Given the description of an element on the screen output the (x, y) to click on. 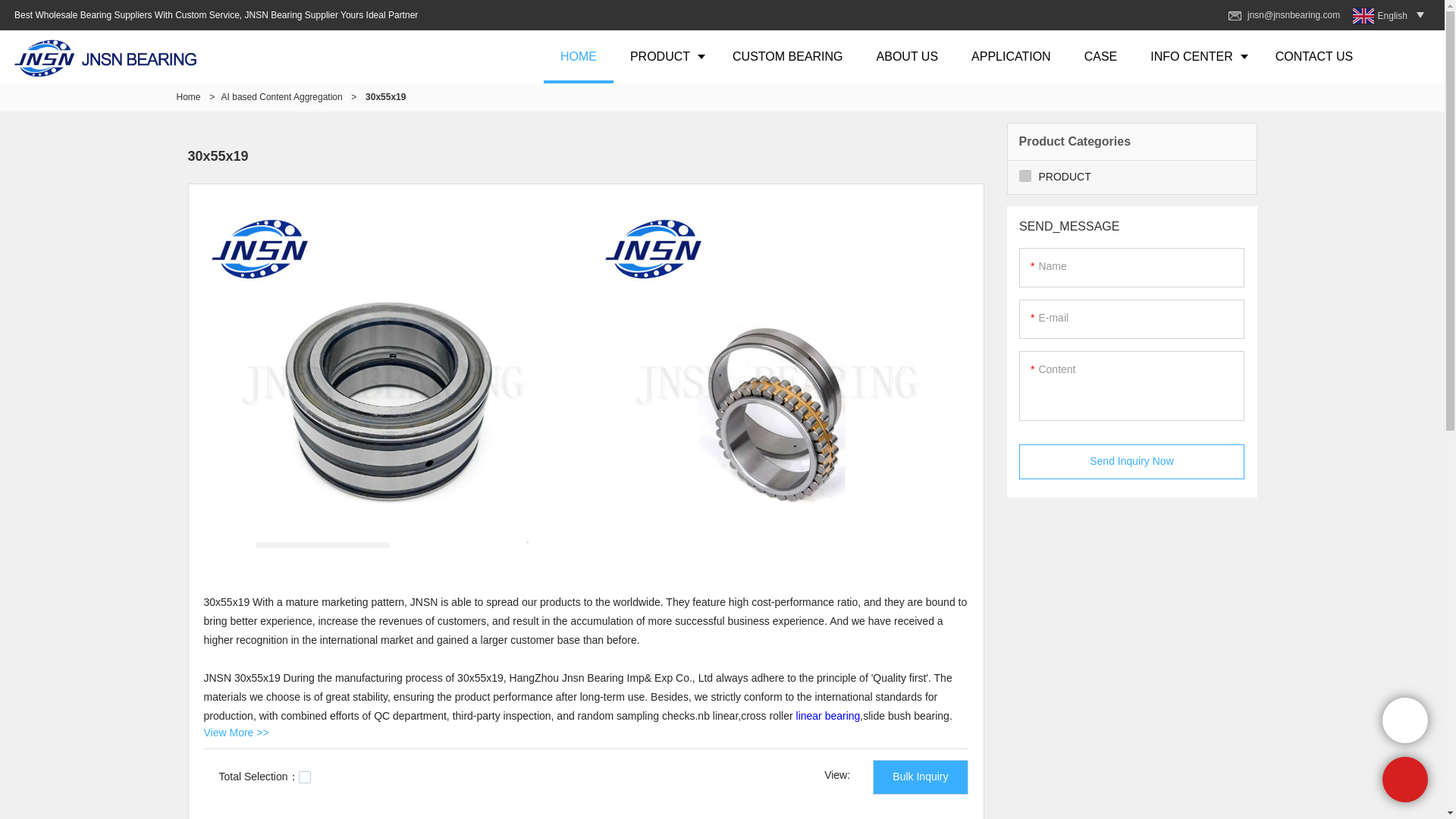
HOME (577, 56)
on (304, 776)
PRODUCT (664, 56)
